Given the description of an element on the screen output the (x, y) to click on. 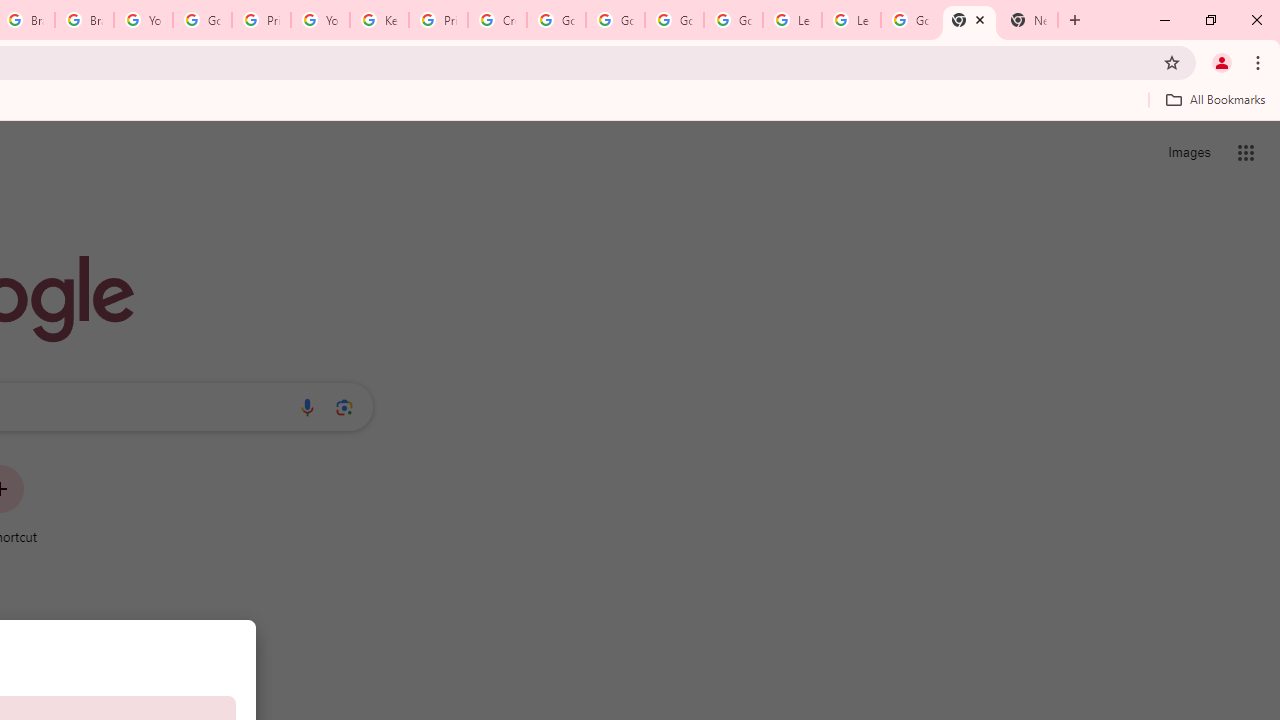
New Tab (1028, 20)
Google Account Help (556, 20)
YouTube (319, 20)
